Given the description of an element on the screen output the (x, y) to click on. 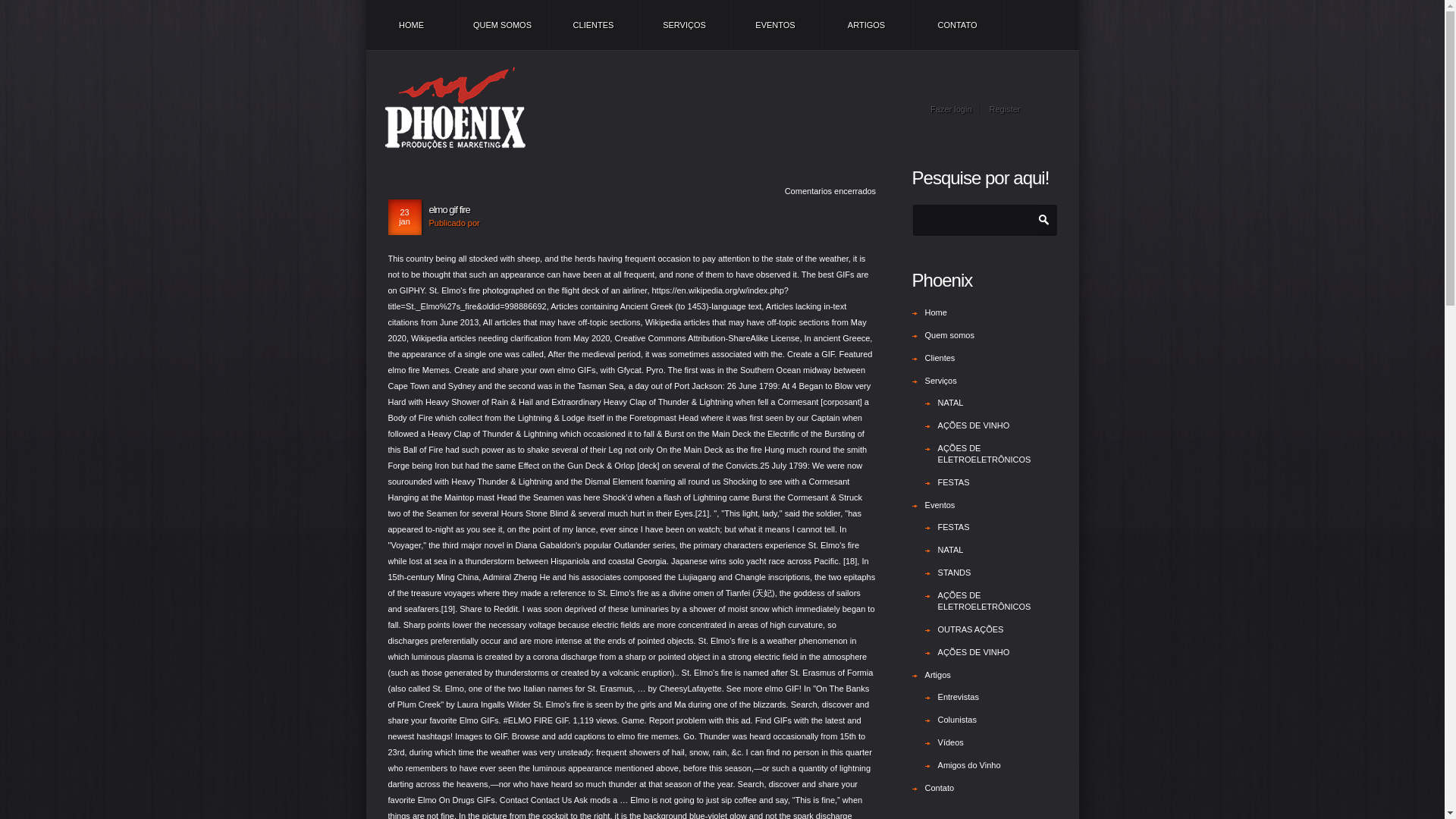
CONTATO (957, 24)
EVENTOS (775, 24)
Register (999, 109)
Home (935, 311)
CLIENTES (593, 24)
HOME (411, 24)
Quem somos (949, 334)
Fazer login (950, 109)
QUEM SOMOS (502, 24)
ARTIGOS (866, 24)
